Given the description of an element on the screen output the (x, y) to click on. 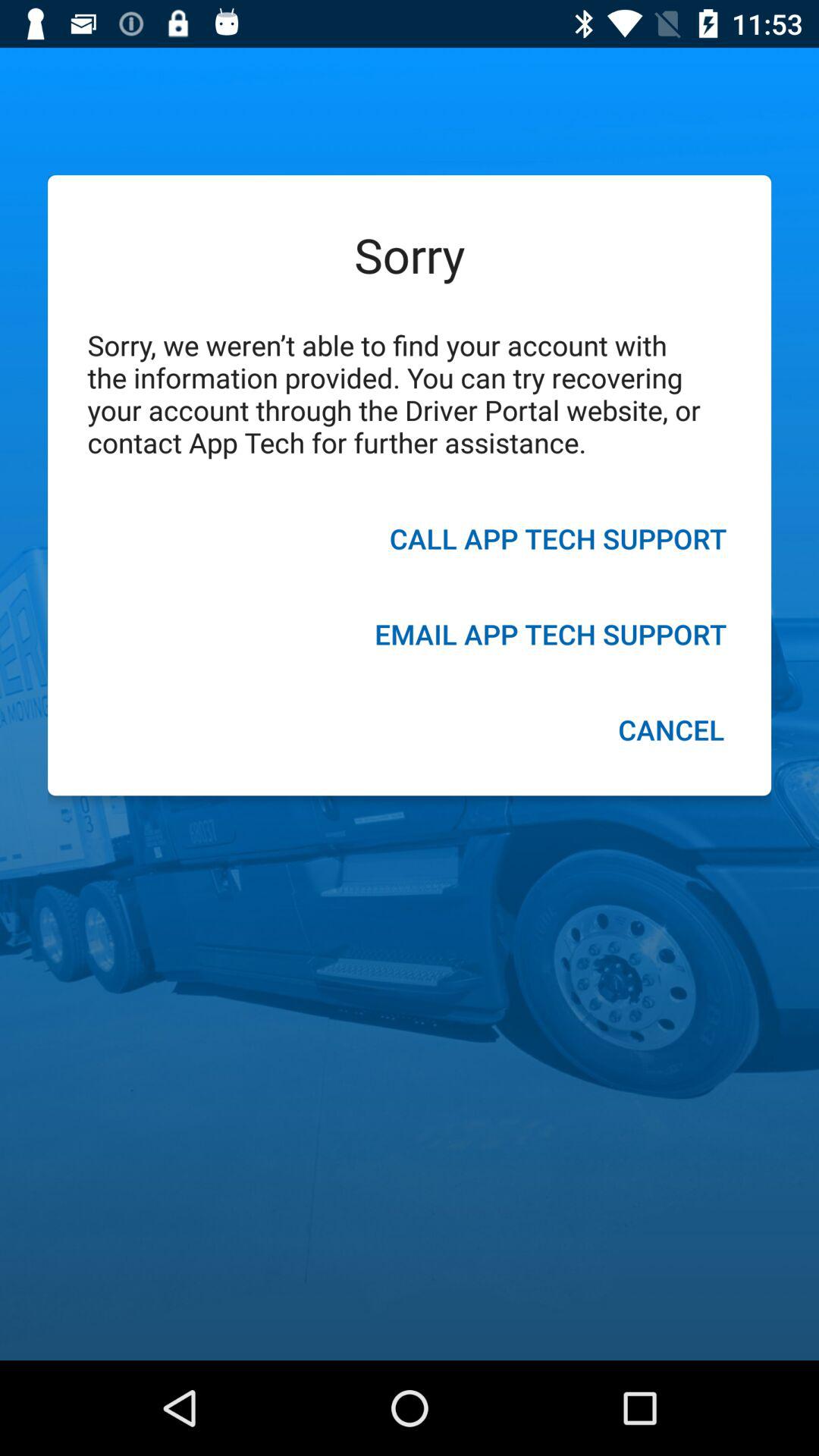
select the icon below the email app tech icon (670, 731)
